Given the description of an element on the screen output the (x, y) to click on. 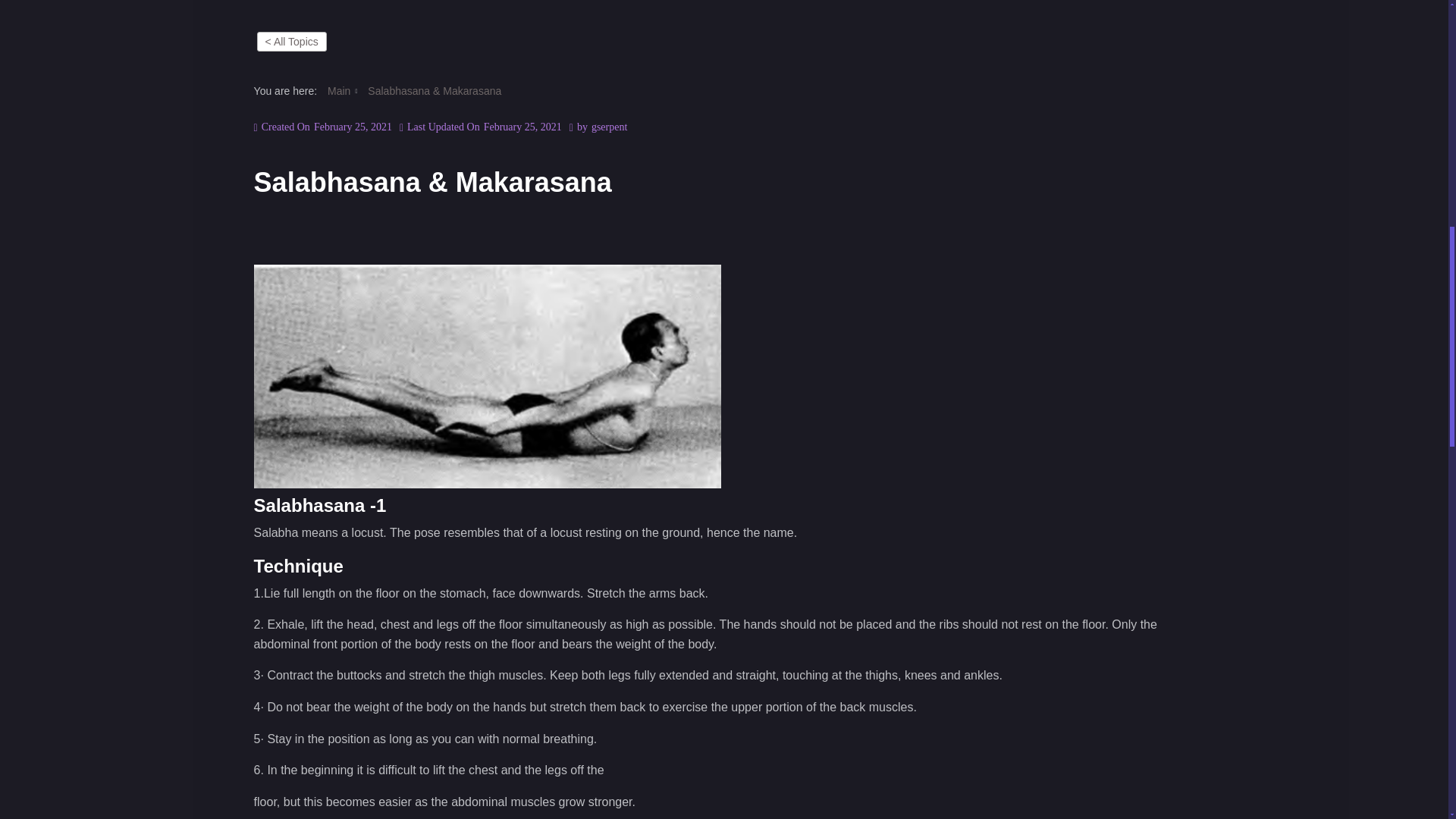
Page 64 (724, 532)
Page 62 (724, 566)
Page 93 (724, 505)
Page 62 (724, 550)
Main (338, 91)
